Given the description of an element on the screen output the (x, y) to click on. 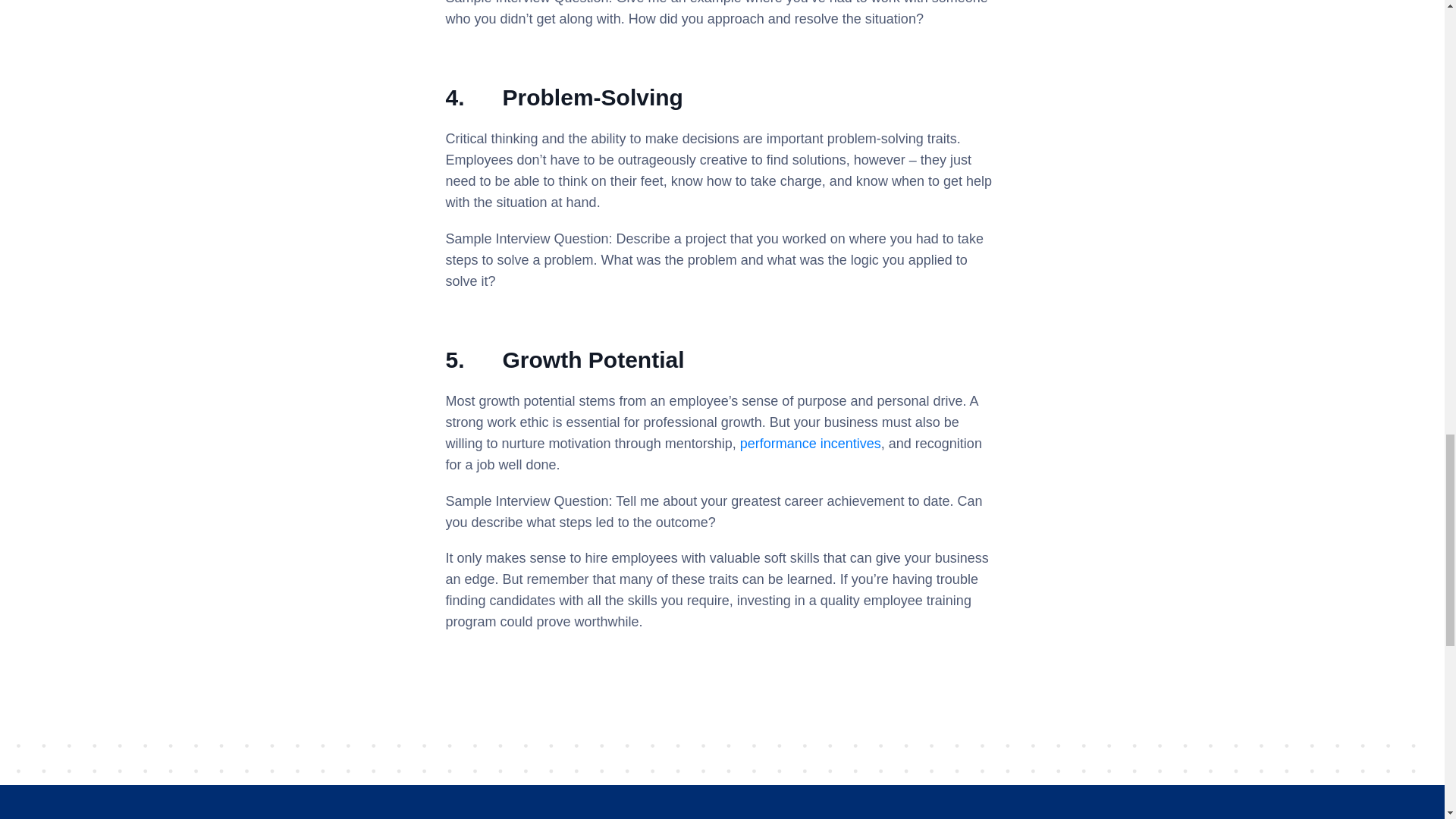
performance incentives (809, 443)
